Given the description of an element on the screen output the (x, y) to click on. 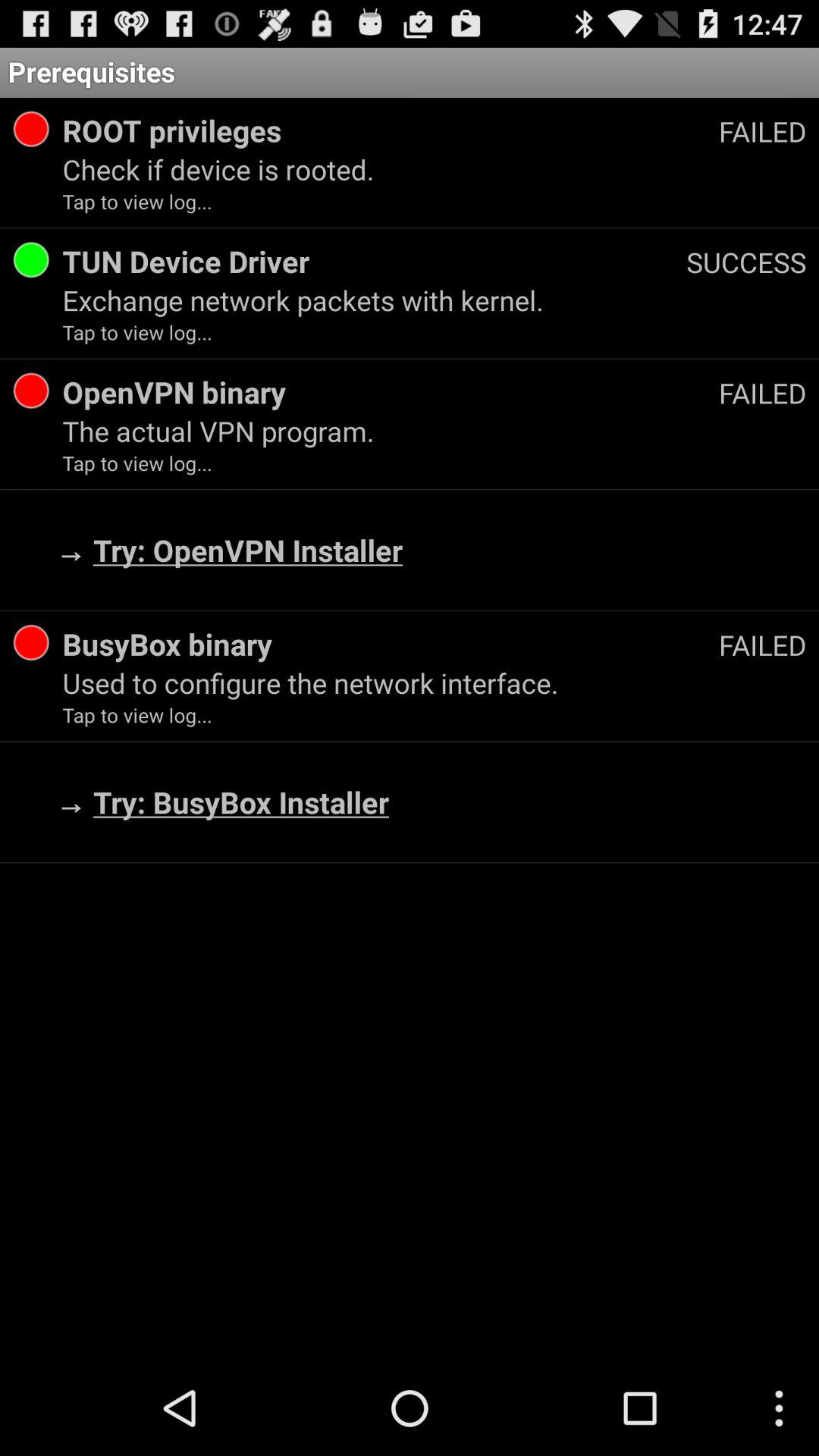
open icon next to success item (374, 261)
